Given the description of an element on the screen output the (x, y) to click on. 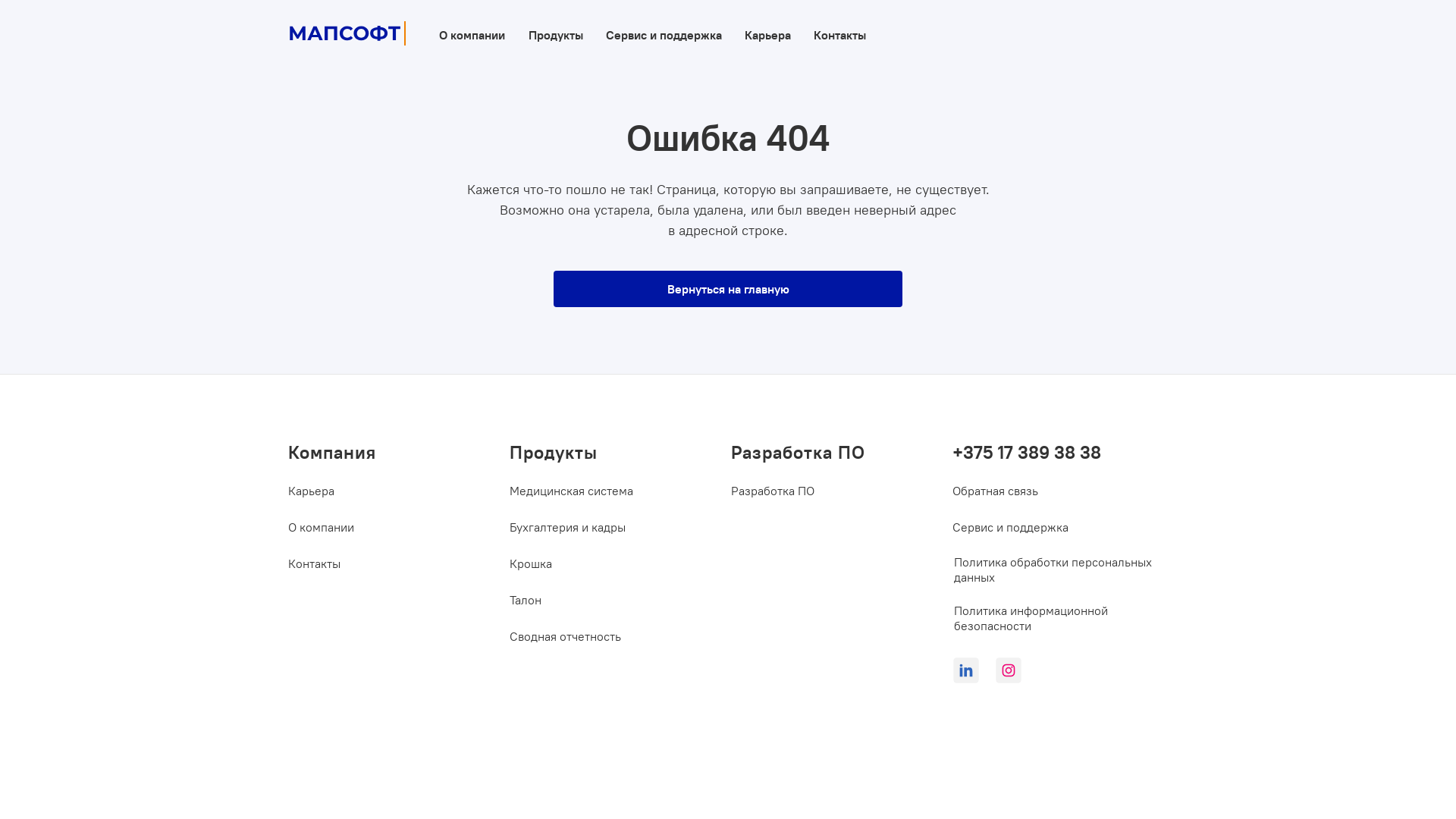
+375 17 389 38 38 Element type: text (1050, 451)
